Given the description of an element on the screen output the (x, y) to click on. 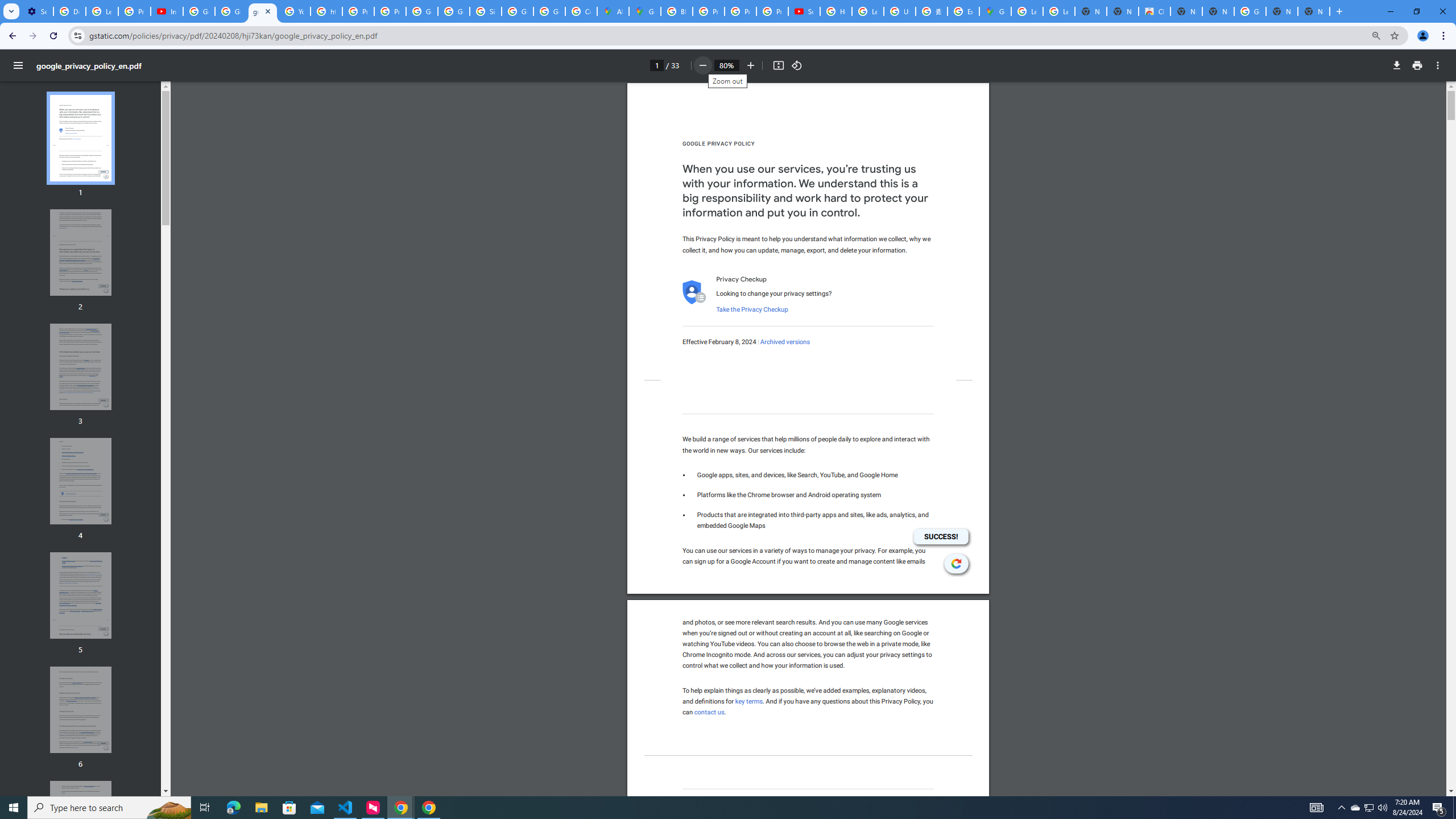
Create your Google Account (581, 11)
Take the Privacy Checkup (750, 309)
Delete photos & videos - Computer - Google Photos Help (69, 11)
google_privacy_policy_en.pdf (262, 11)
Zoom level (726, 64)
Google Maps (644, 11)
Google Maps (995, 11)
New Tab (1313, 11)
